Given the description of an element on the screen output the (x, y) to click on. 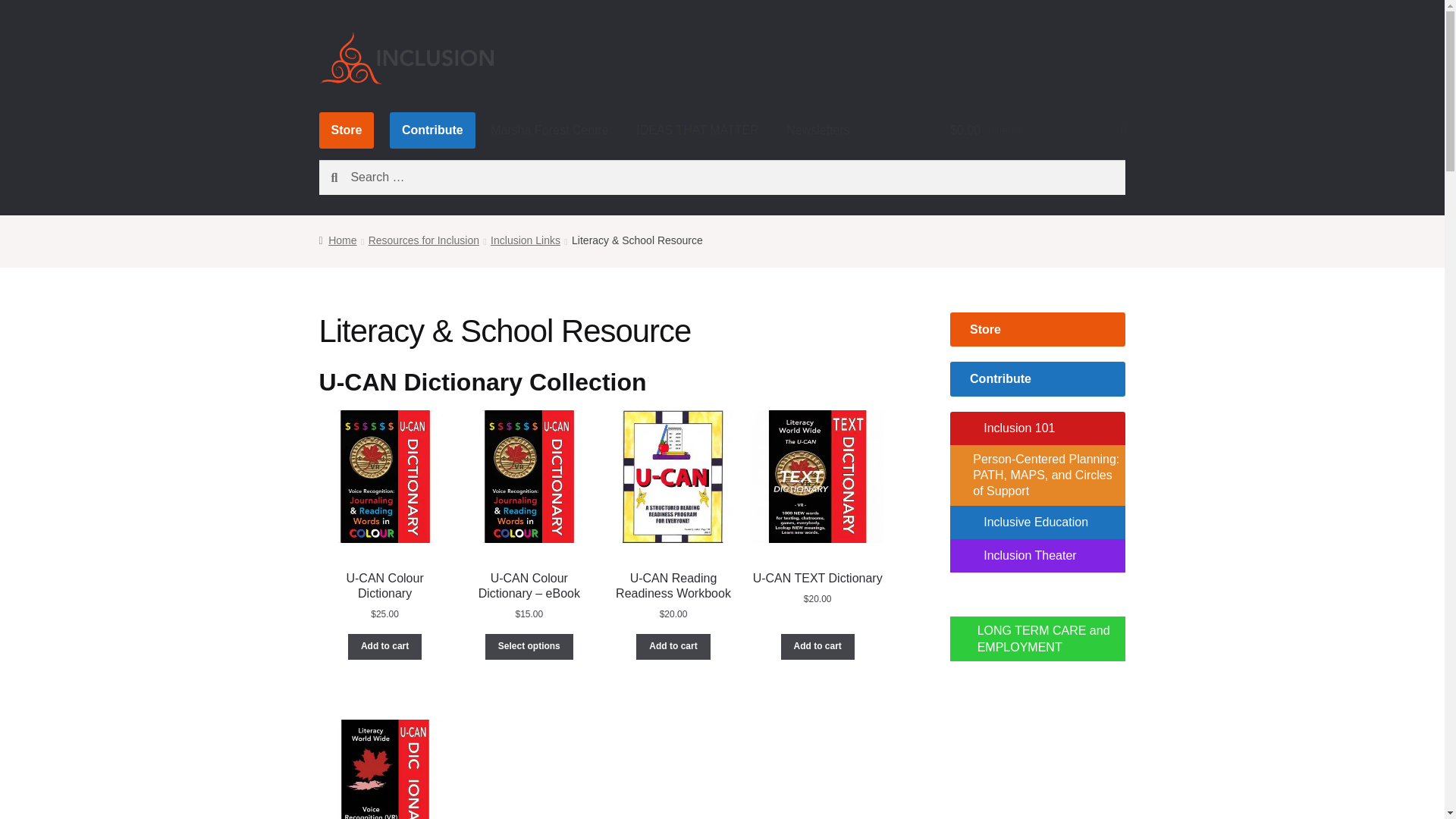
Select options (528, 646)
Contribute (433, 130)
Newsletters (817, 130)
Add to cart (673, 646)
Home (337, 240)
Resources for Inclusion (423, 240)
Marsha Forest Centre (550, 130)
Store (346, 130)
Inclusion Links (525, 240)
Add to cart (817, 646)
Add to cart (384, 646)
